Given the description of an element on the screen output the (x, y) to click on. 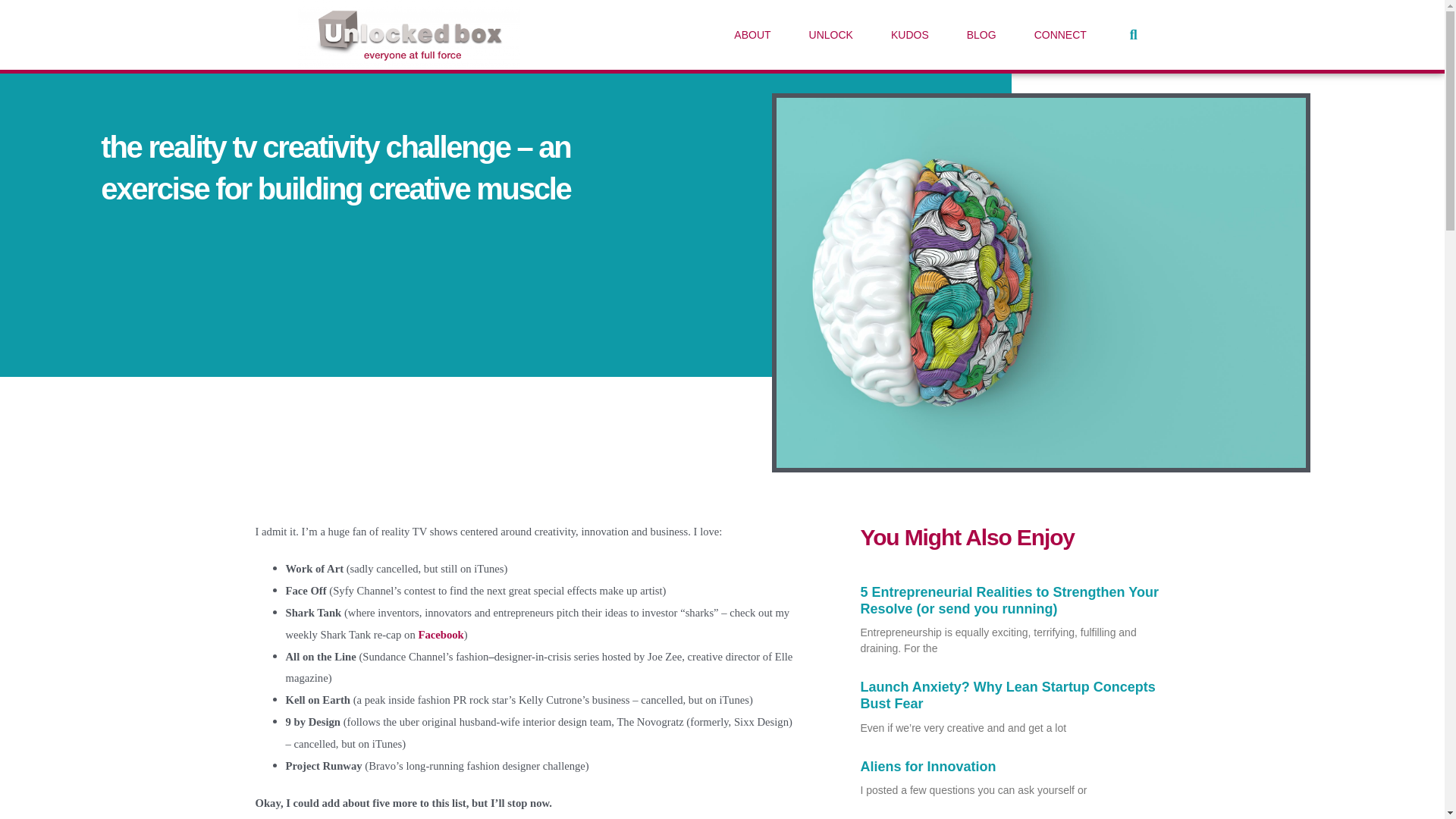
Aliens for Innovation (927, 766)
Launch Anxiety? Why Lean Startup Concepts Bust Fear (1007, 695)
Facebook (440, 634)
CONNECT (1059, 34)
UNLOCK (831, 34)
KUDOS (909, 34)
Weekly Shark Tank Re-Cap (440, 634)
ABOUT (751, 34)
BLOG (980, 34)
